Given the description of an element on the screen output the (x, y) to click on. 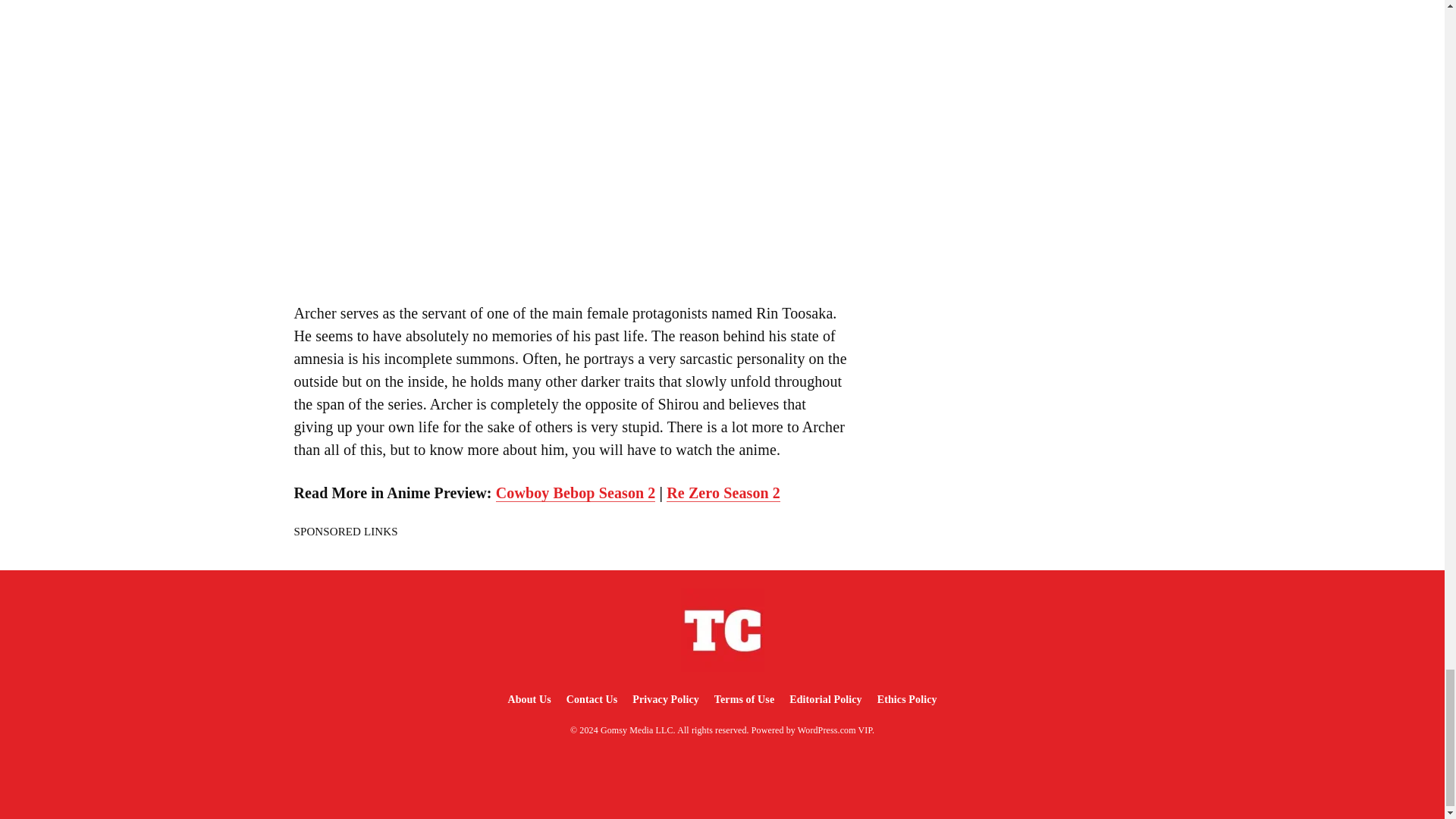
Re Zero Season 2 (723, 493)
Contact Us (592, 699)
Privacy Policy (665, 699)
About Us (528, 699)
Ethics Policy (906, 699)
Terms of Use (743, 699)
WordPress.com VIP (834, 729)
Cowboy Bebop Season 2 (576, 493)
Editorial Policy (825, 699)
